Given the description of an element on the screen output the (x, y) to click on. 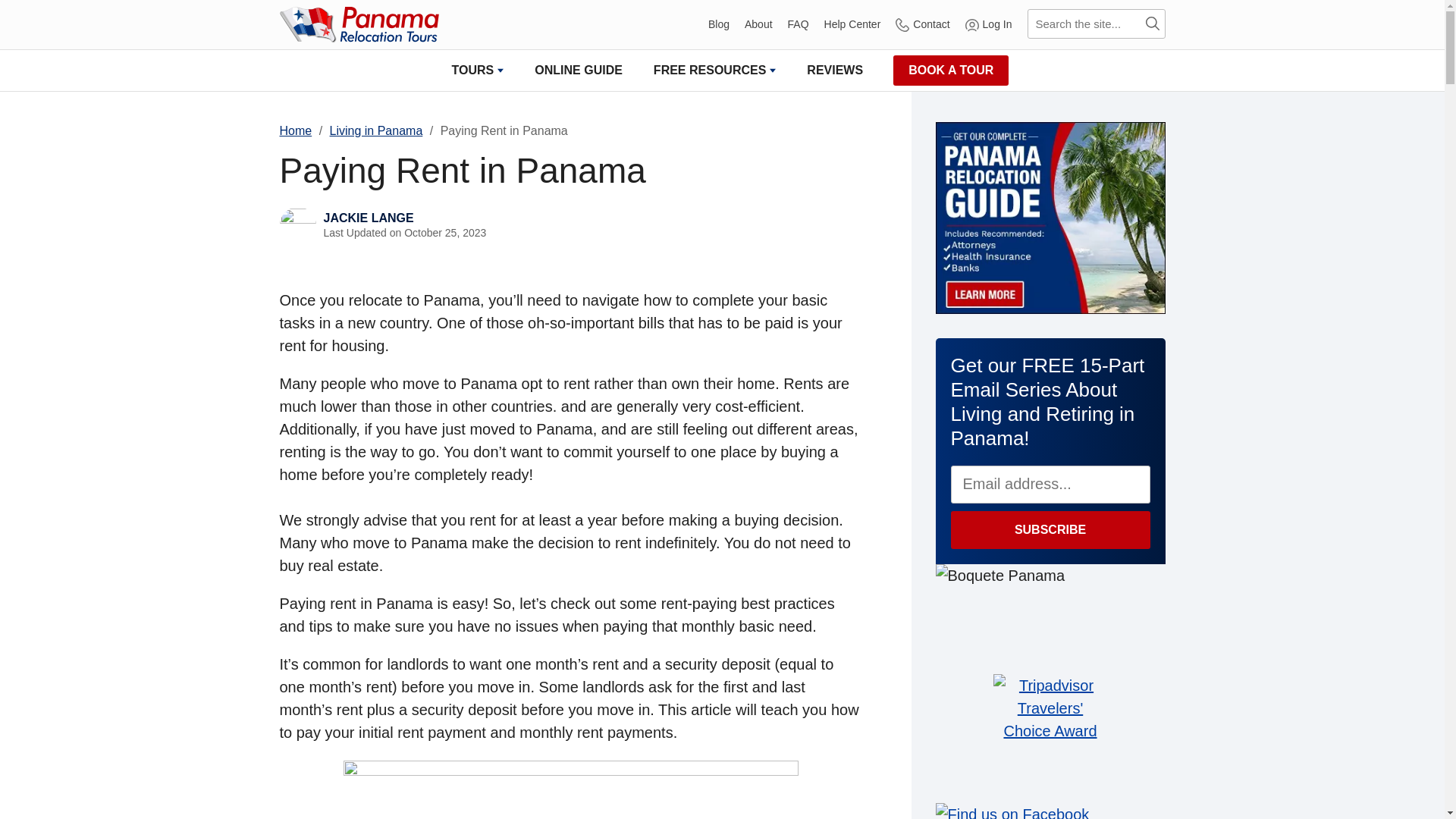
Subscribe (1050, 529)
Contact (922, 24)
Help Center (852, 24)
About (758, 24)
Log In (988, 24)
